Given the description of an element on the screen output the (x, y) to click on. 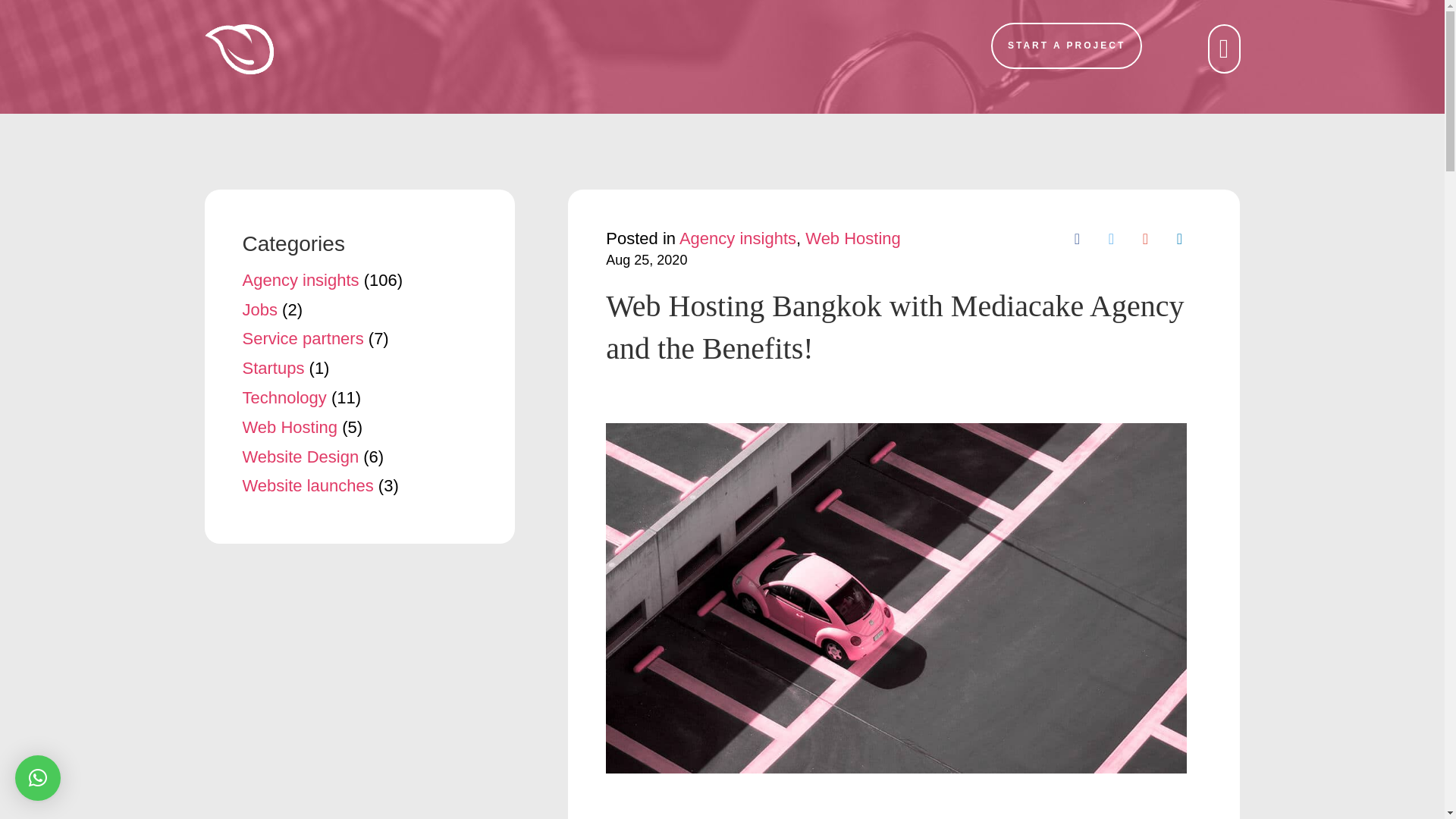
Jobs (260, 309)
START A PROJECT (1066, 45)
Web Hosting (853, 238)
Website Design (301, 456)
Agency insights (737, 238)
Technology (284, 397)
Service partners (303, 338)
Agency insights (301, 280)
mediacake-logo (239, 49)
Web Hosting (290, 426)
